Given the description of an element on the screen output the (x, y) to click on. 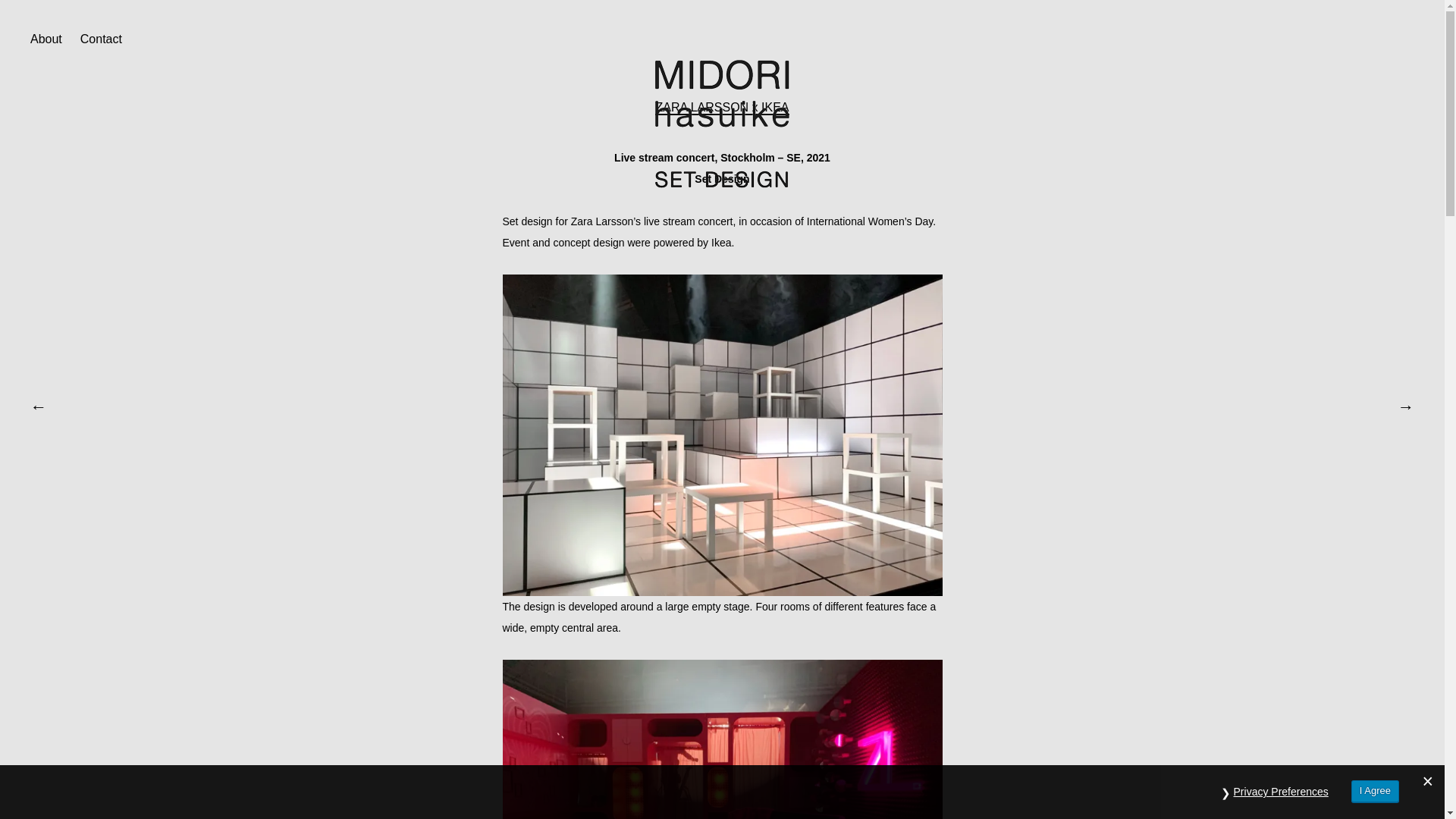
I Agree (1375, 791)
Contact (101, 34)
ZARA LARSSON x IKEA (722, 107)
Privacy Preferences (1280, 791)
About (46, 34)
